Given the description of an element on the screen output the (x, y) to click on. 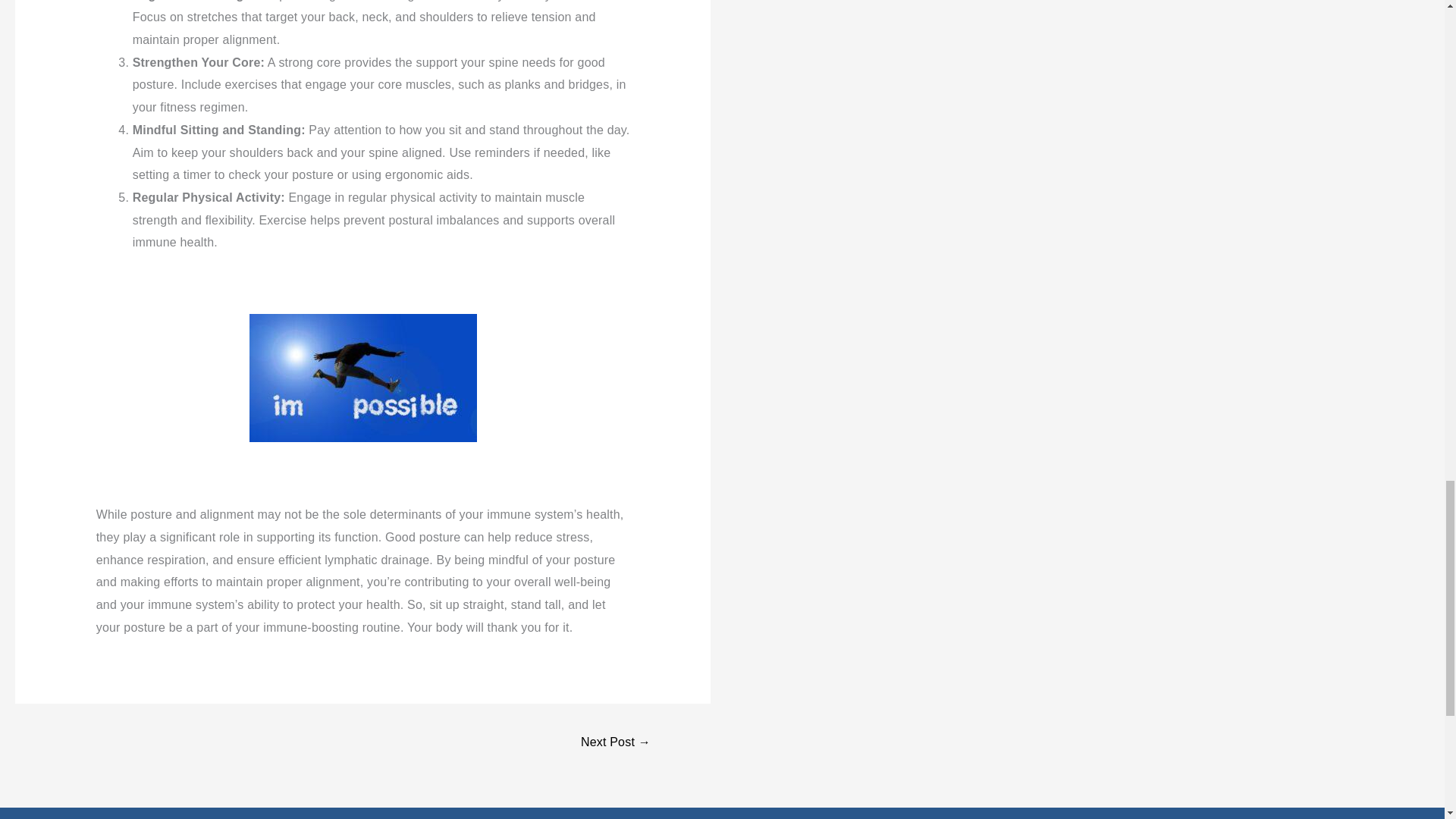
Secrets to Maintaining Optimal Muscle Length (615, 743)
